Given the description of an element on the screen output the (x, y) to click on. 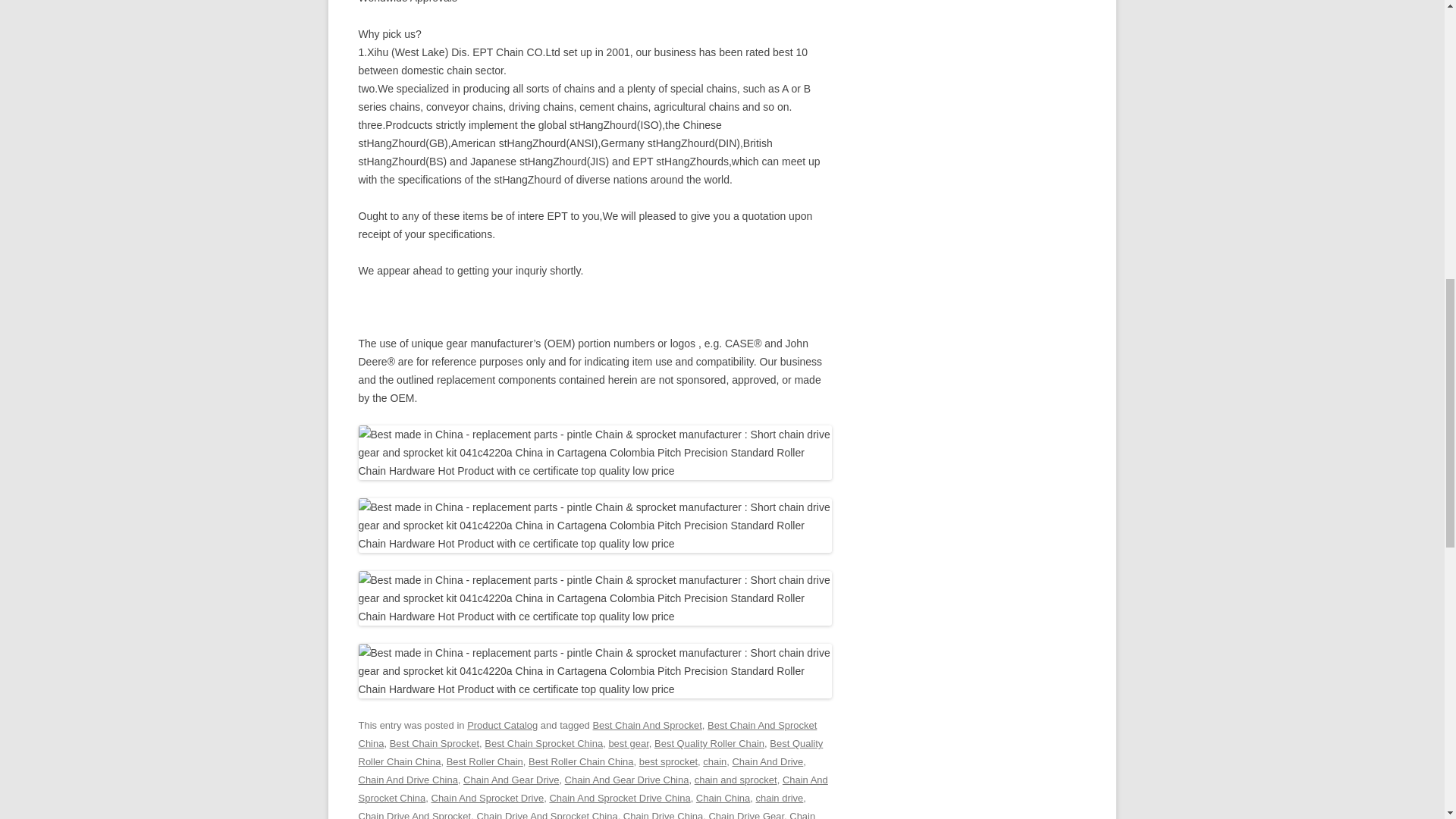
Best Roller Chain China (580, 761)
best gear (627, 743)
Chain Drive And Sprocket (414, 814)
Chain And Gear Drive (511, 779)
Best Quality Roller Chain (708, 743)
Best Roller Chain (484, 761)
Chain And Gear Drive China (626, 779)
Chain And Sprocket Drive China (619, 797)
Chain Drive Gear And Sprocket (586, 814)
Best Chain And Sprocket (646, 725)
Chain And Drive (767, 761)
Chain And Drive China (407, 779)
chain (714, 761)
best sprocket (668, 761)
chain and sprocket (735, 779)
